Given the description of an element on the screen output the (x, y) to click on. 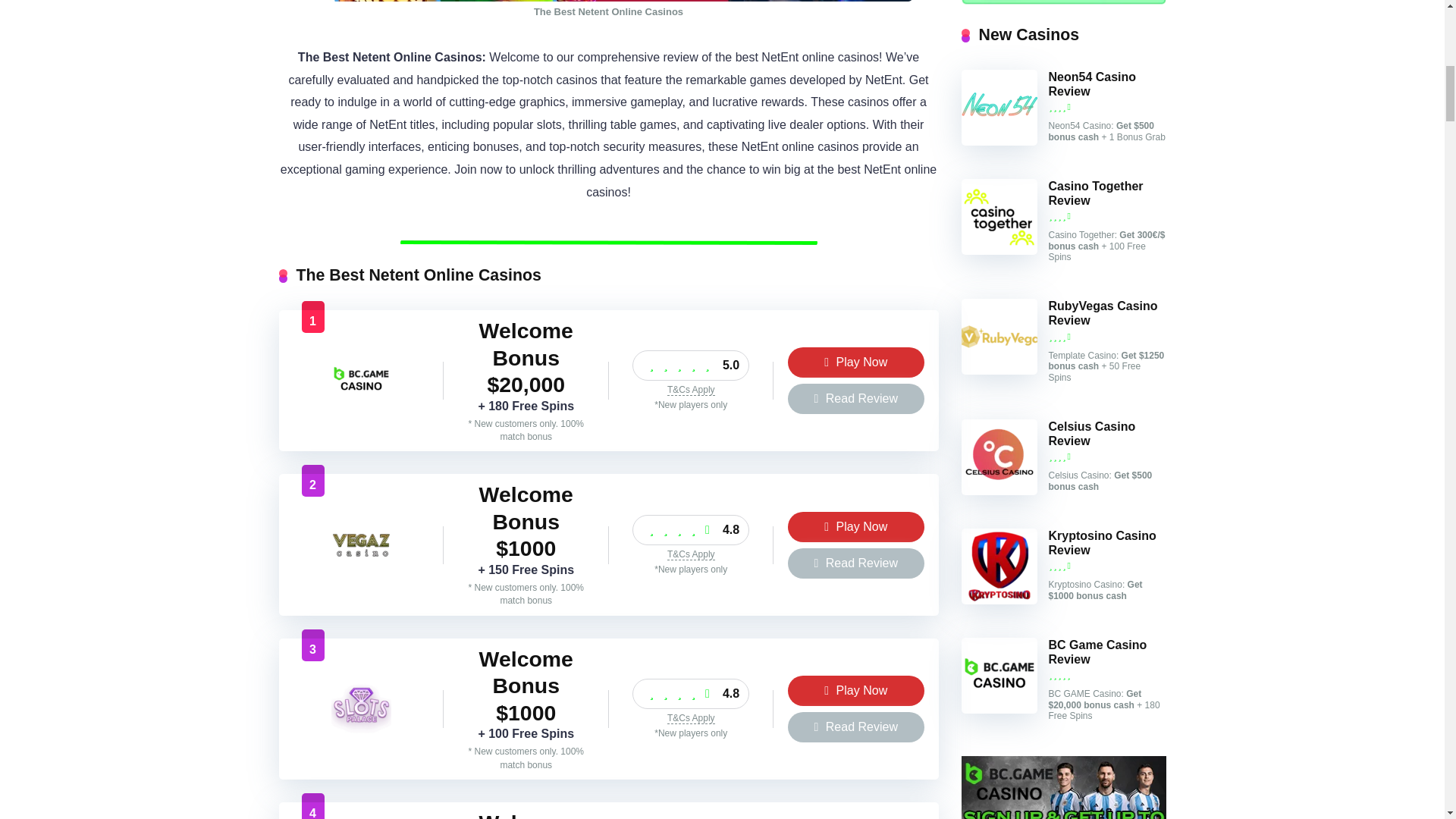
Play Now (855, 526)
Read Review (855, 399)
Read Review (855, 562)
Read Review (855, 726)
Play Now (855, 362)
Play Now (855, 690)
Play Now (855, 690)
SlotsPlace Casino Review (361, 735)
Read Review (855, 726)
Read Review (855, 562)
Vegaz Casino Review (361, 571)
Read Review (855, 399)
Play Now (855, 526)
BC Game Casino Review (361, 406)
Play Now (855, 362)
